Given the description of an element on the screen output the (x, y) to click on. 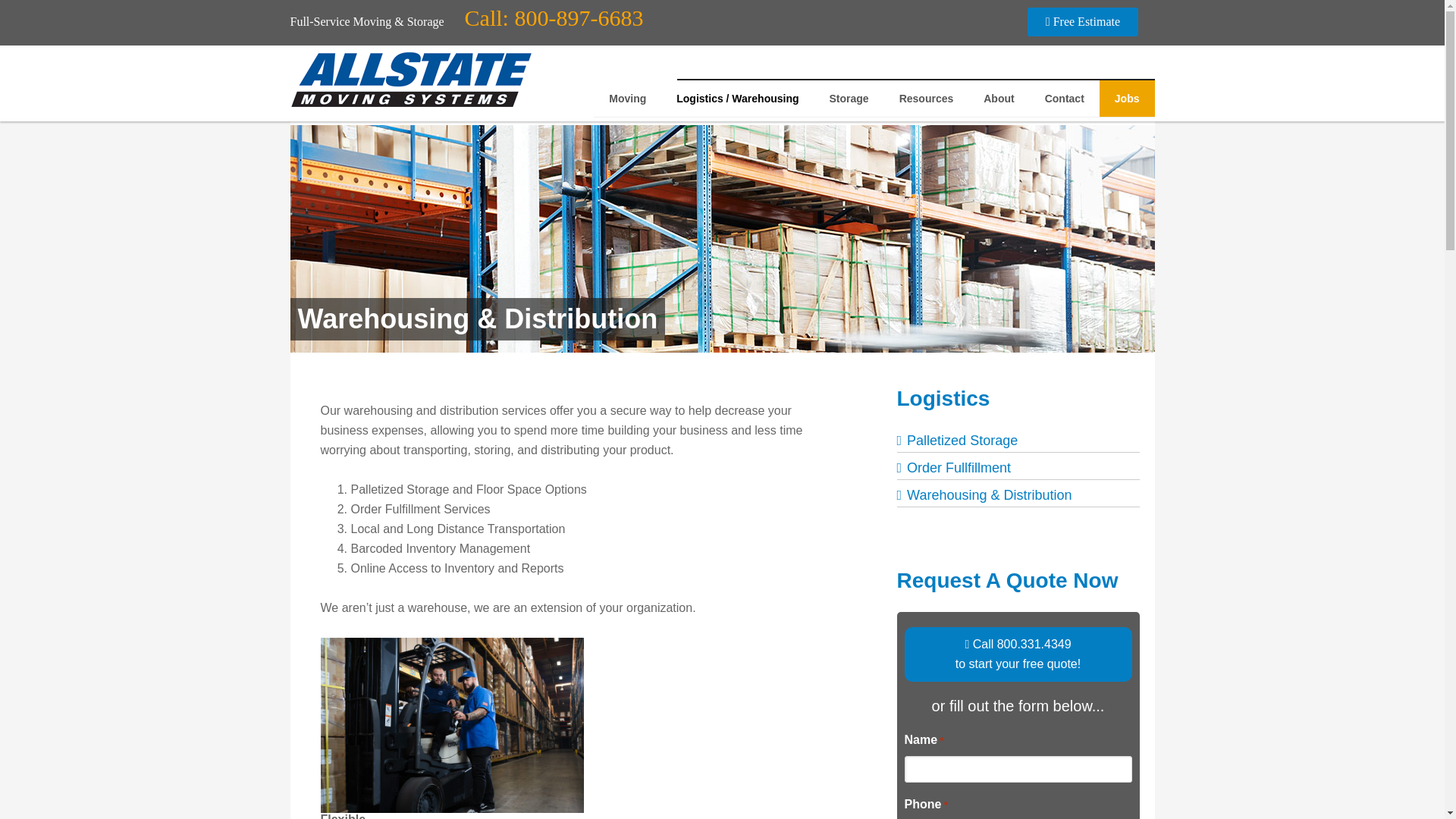
Moving (627, 98)
Free Estimate (1082, 21)
Resources (926, 98)
Storage (848, 98)
About (998, 98)
